Given the description of an element on the screen output the (x, y) to click on. 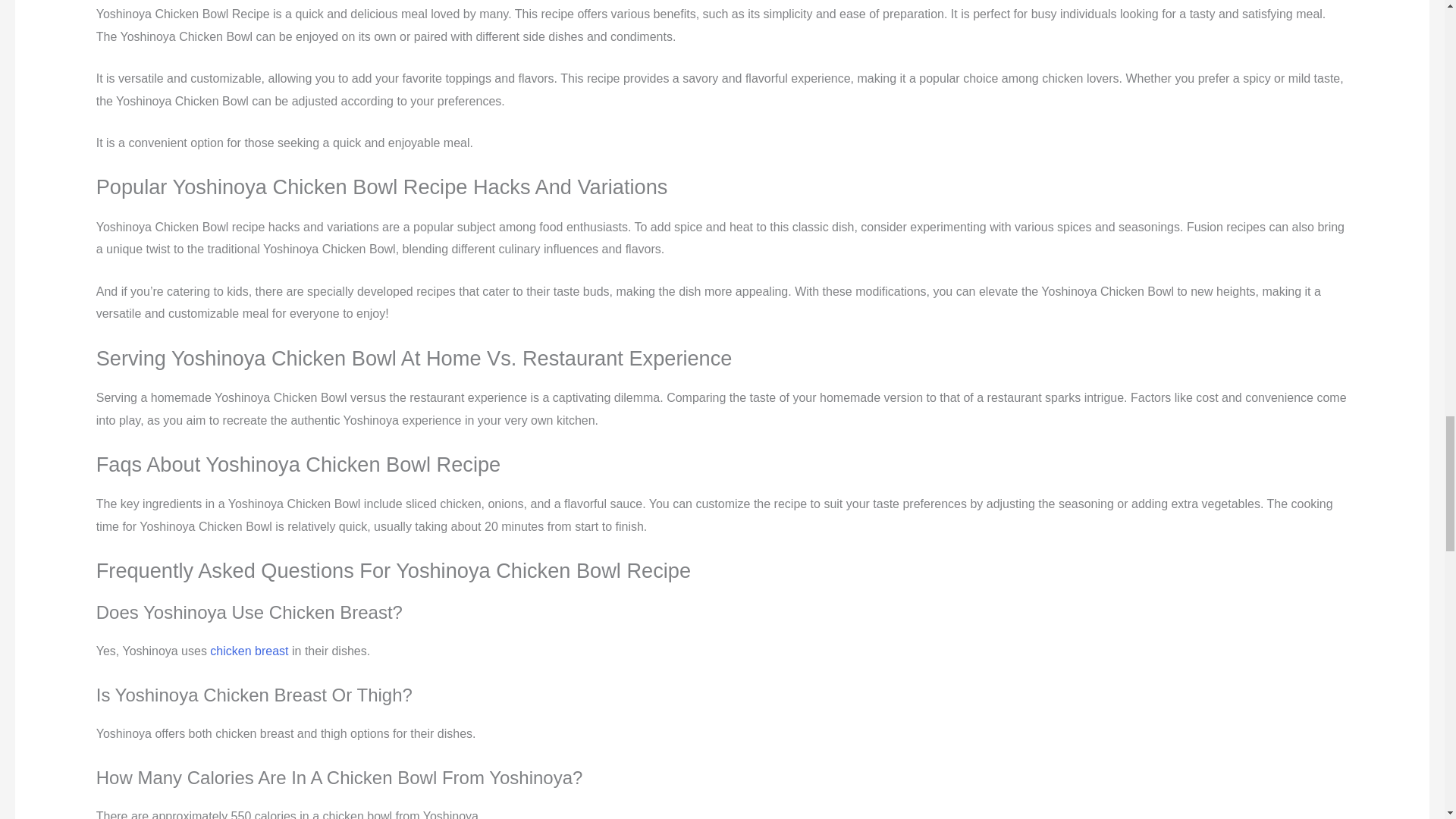
chicken breast (248, 650)
